Given the description of an element on the screen output the (x, y) to click on. 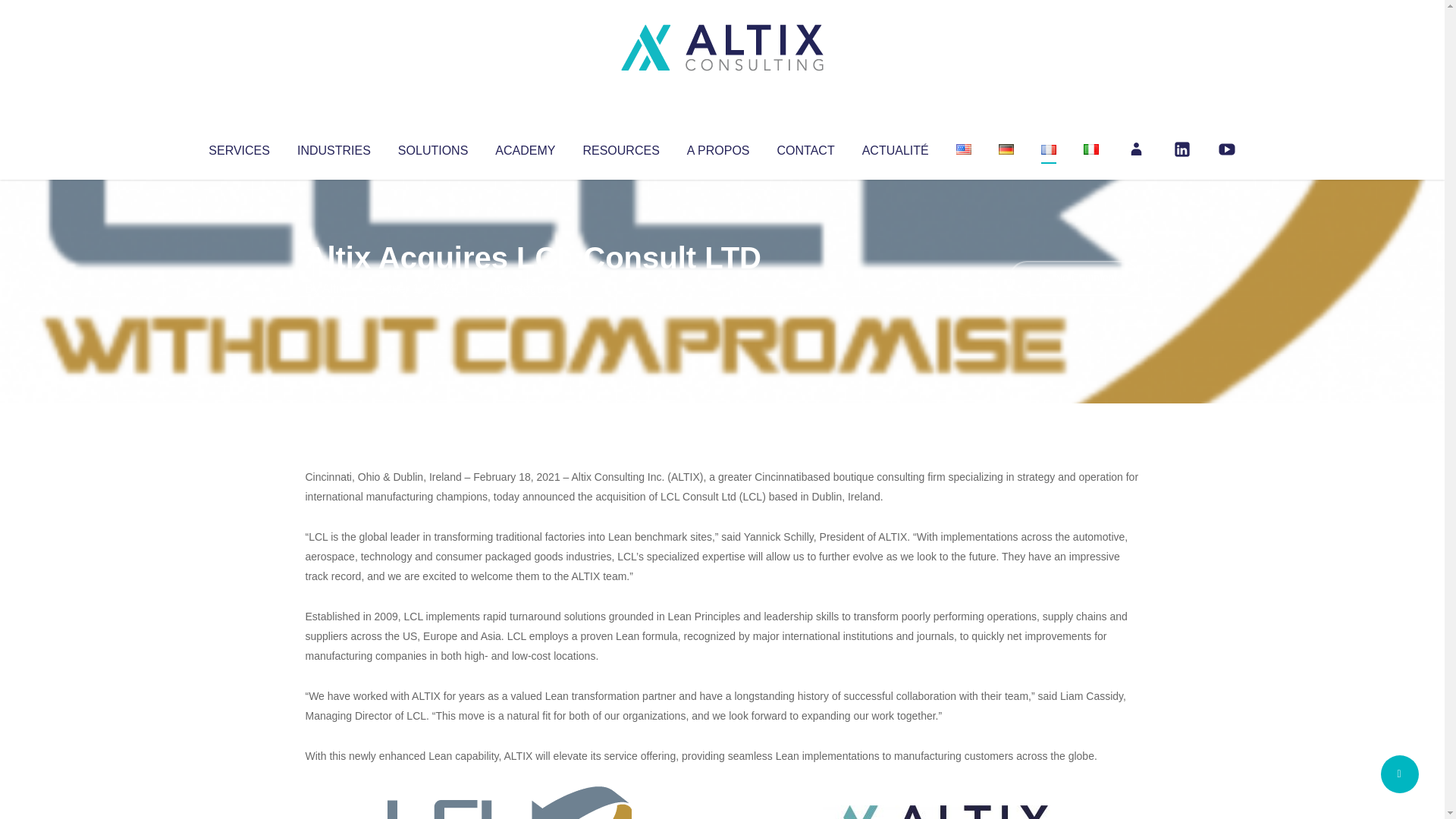
ACADEMY (524, 146)
No Comments (1073, 278)
SOLUTIONS (432, 146)
RESOURCES (620, 146)
A PROPOS (718, 146)
Articles par Altix (333, 287)
Uncategorized (530, 287)
Altix (333, 287)
SERVICES (238, 146)
INDUSTRIES (334, 146)
